Given the description of an element on the screen output the (x, y) to click on. 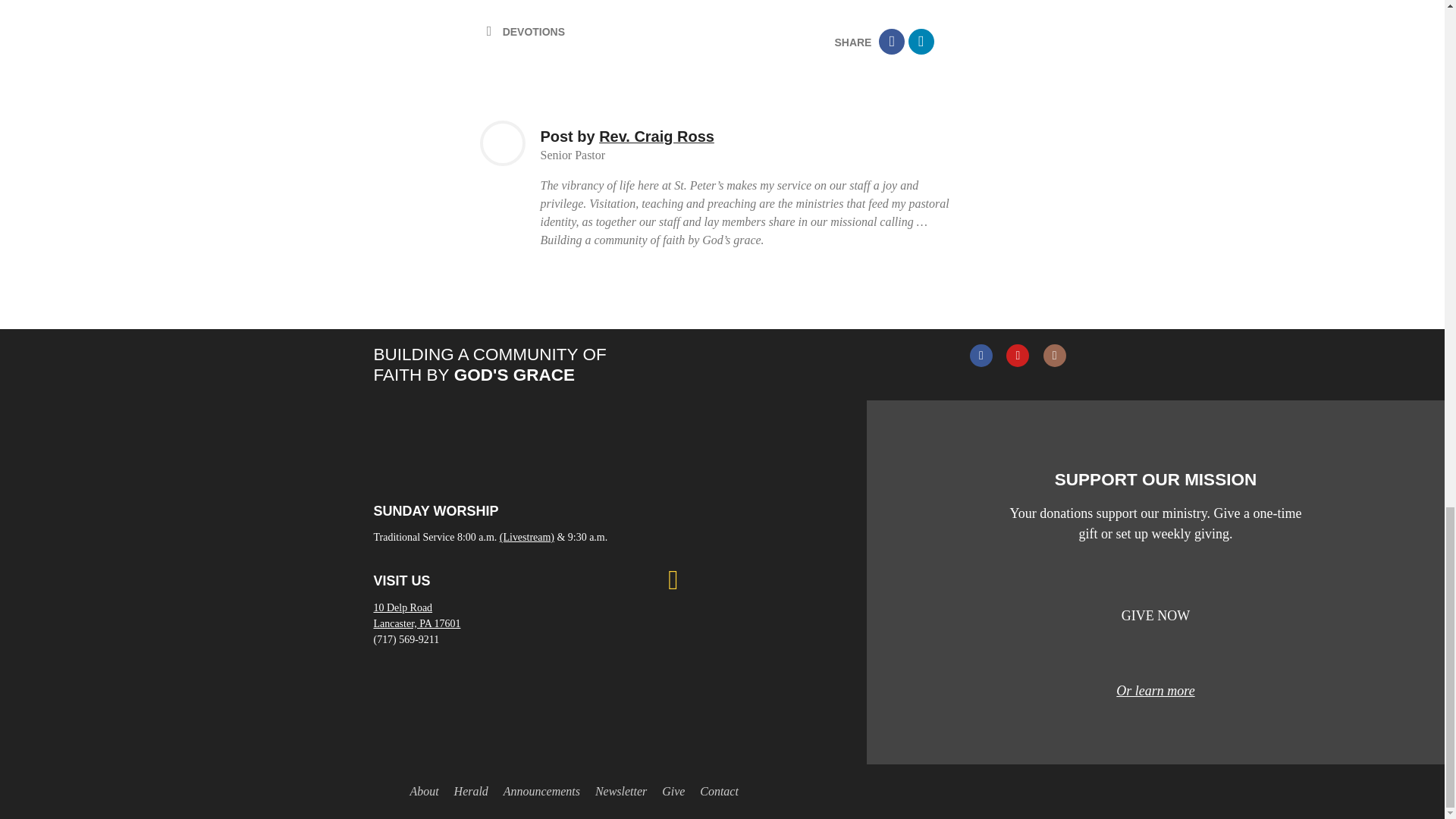
About (423, 791)
Rev. Craig Ross (656, 135)
Go Home (384, 791)
Like us on Facebook (981, 355)
Get Directions (416, 615)
Subscribe on YouTube (1017, 355)
Follow us on Instagram (1054, 355)
DEVOTIONS (533, 31)
GIVE NOW (1155, 615)
More on Streaming Worship (526, 536)
